Given the description of an element on the screen output the (x, y) to click on. 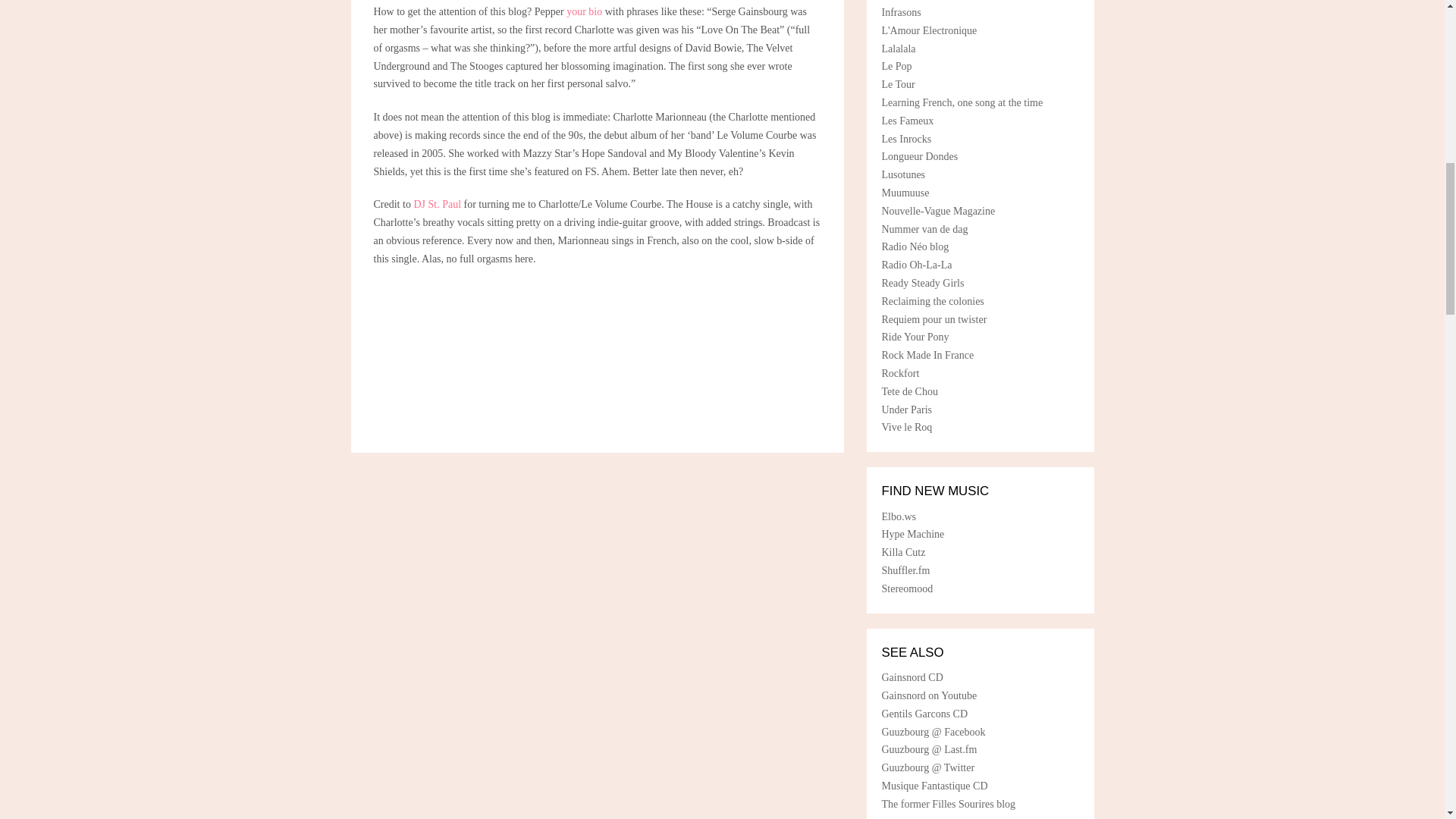
Lalalala (897, 48)
Music in Portugueuse, great blog (902, 174)
Infrasons (900, 12)
Online record store in Amsterdam, sells Gainsnord-7inches (902, 552)
DJ St. Paul (438, 204)
Best Serge Gainsbourg site in the world (908, 391)
your bio (584, 11)
Le Tour (897, 84)
Learning French, one song at the time (961, 102)
Le Pop (895, 66)
